Given the description of an element on the screen output the (x, y) to click on. 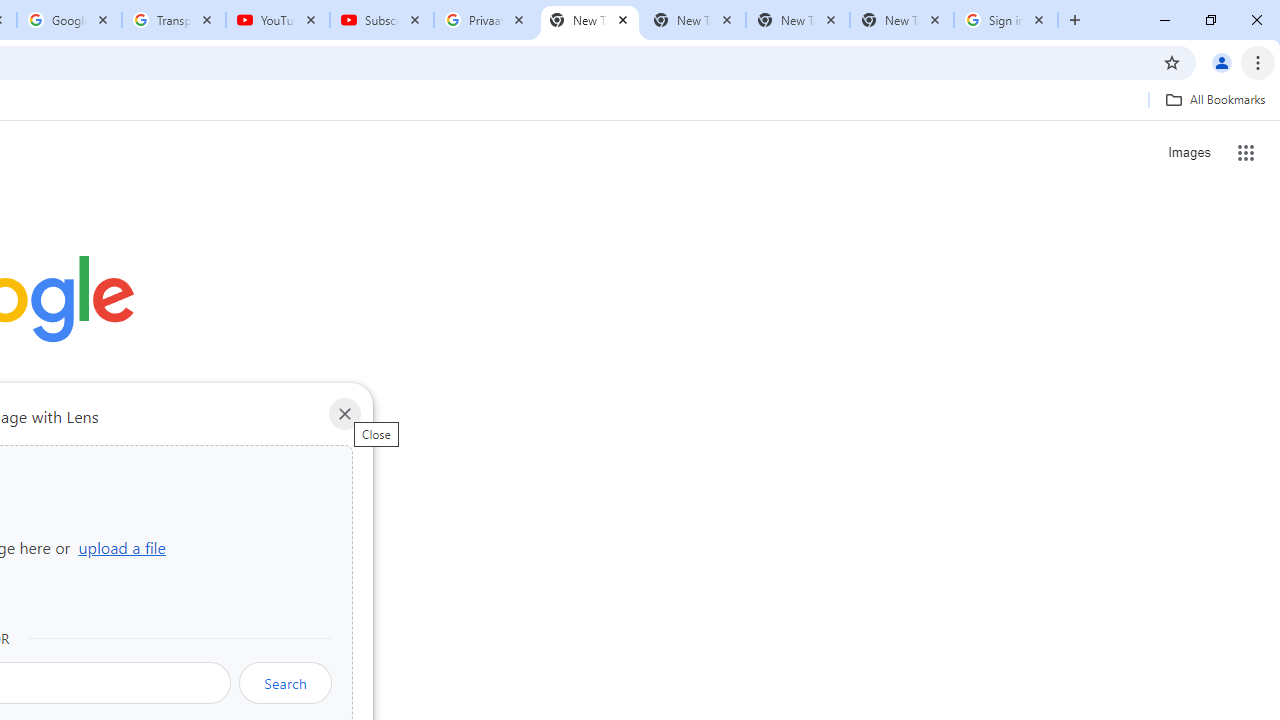
More actions for Sign in shortcut (152, 466)
Google Account (68, 20)
upload a file (122, 547)
Subscriptions - YouTube (381, 20)
